Given the description of an element on the screen output the (x, y) to click on. 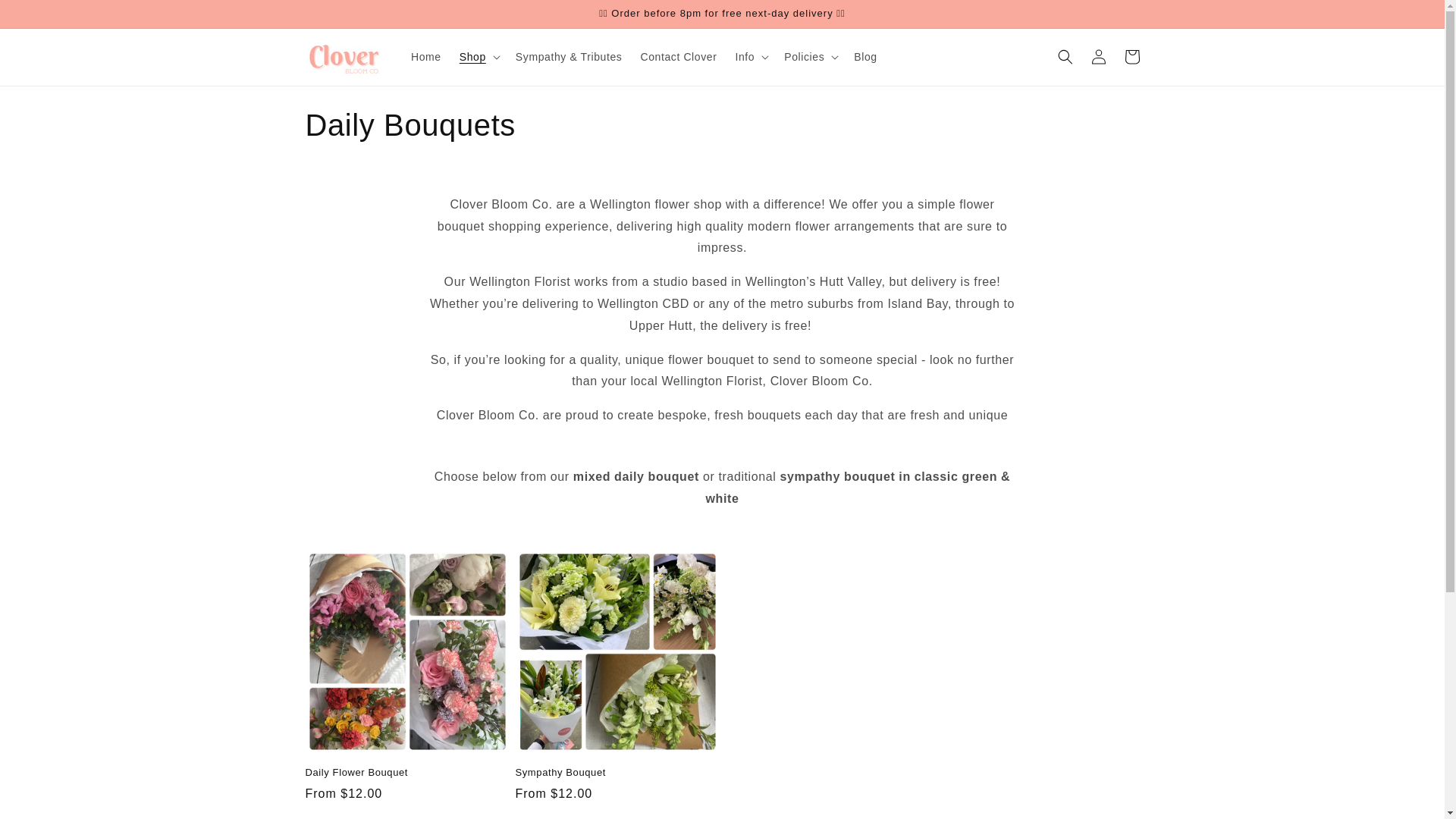
Cart (1131, 56)
Home (425, 56)
Skip to content (45, 17)
Log in (1098, 56)
Blog (864, 56)
Contact Clover (677, 56)
